Given the description of an element on the screen output the (x, y) to click on. 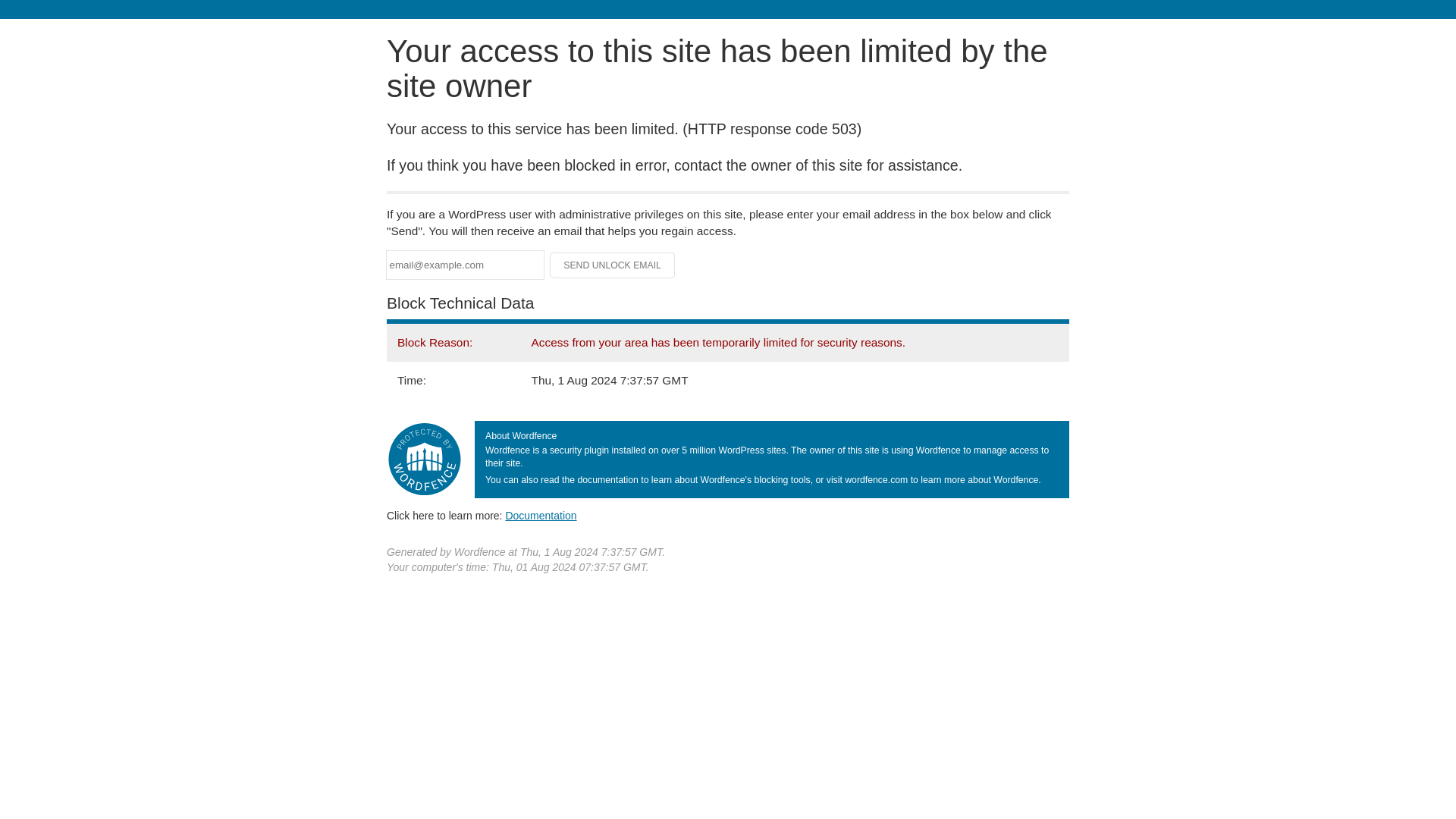
Send Unlock Email (612, 265)
Send Unlock Email (612, 265)
Documentation (540, 515)
